Given the description of an element on the screen output the (x, y) to click on. 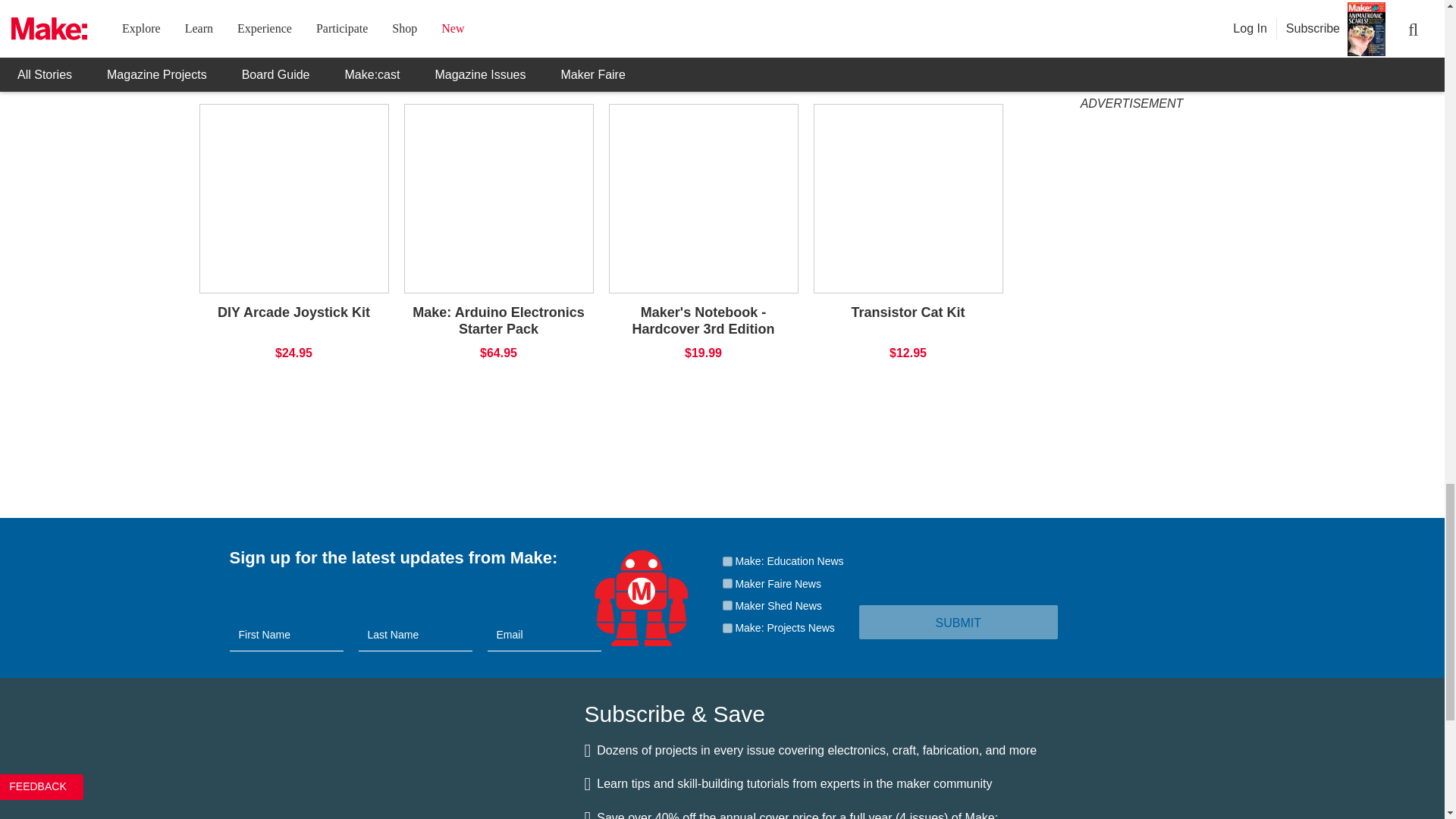
Blind Self Portrait Machine (595, 18)
Maker Faire News (727, 583)
Blind Self Portrait Machine (595, 4)
Make: Education News (727, 561)
Make: Projects News (727, 628)
Maker Shed News (727, 605)
